Given the description of an element on the screen output the (x, y) to click on. 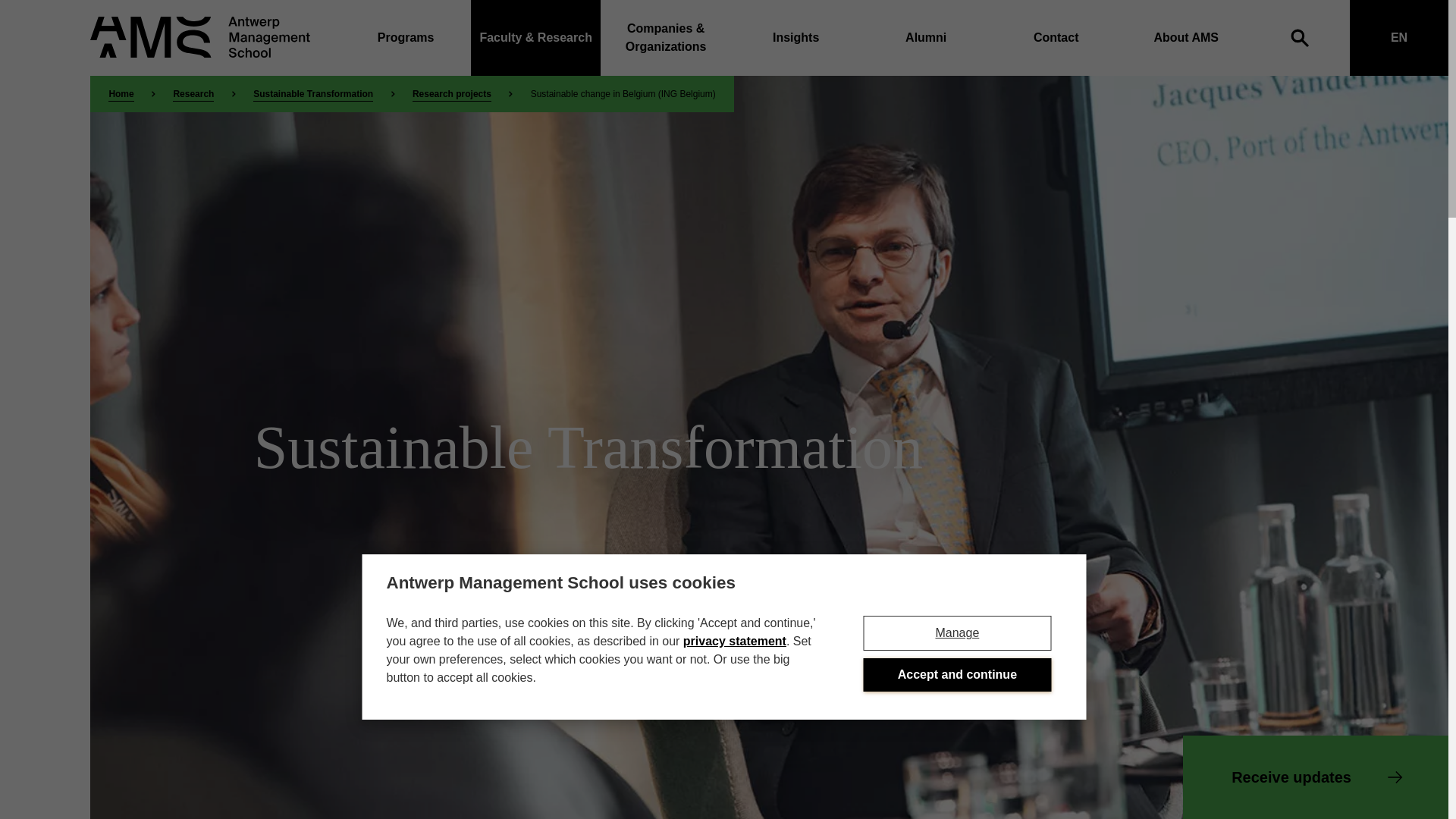
About AMS (1185, 38)
Accept and continue (957, 674)
Manage (957, 632)
Alumni (925, 38)
Insights (795, 38)
privacy statement (734, 640)
Programs (405, 38)
Programs (405, 38)
Contact (1056, 38)
cookie statement (734, 640)
